Given the description of an element on the screen output the (x, y) to click on. 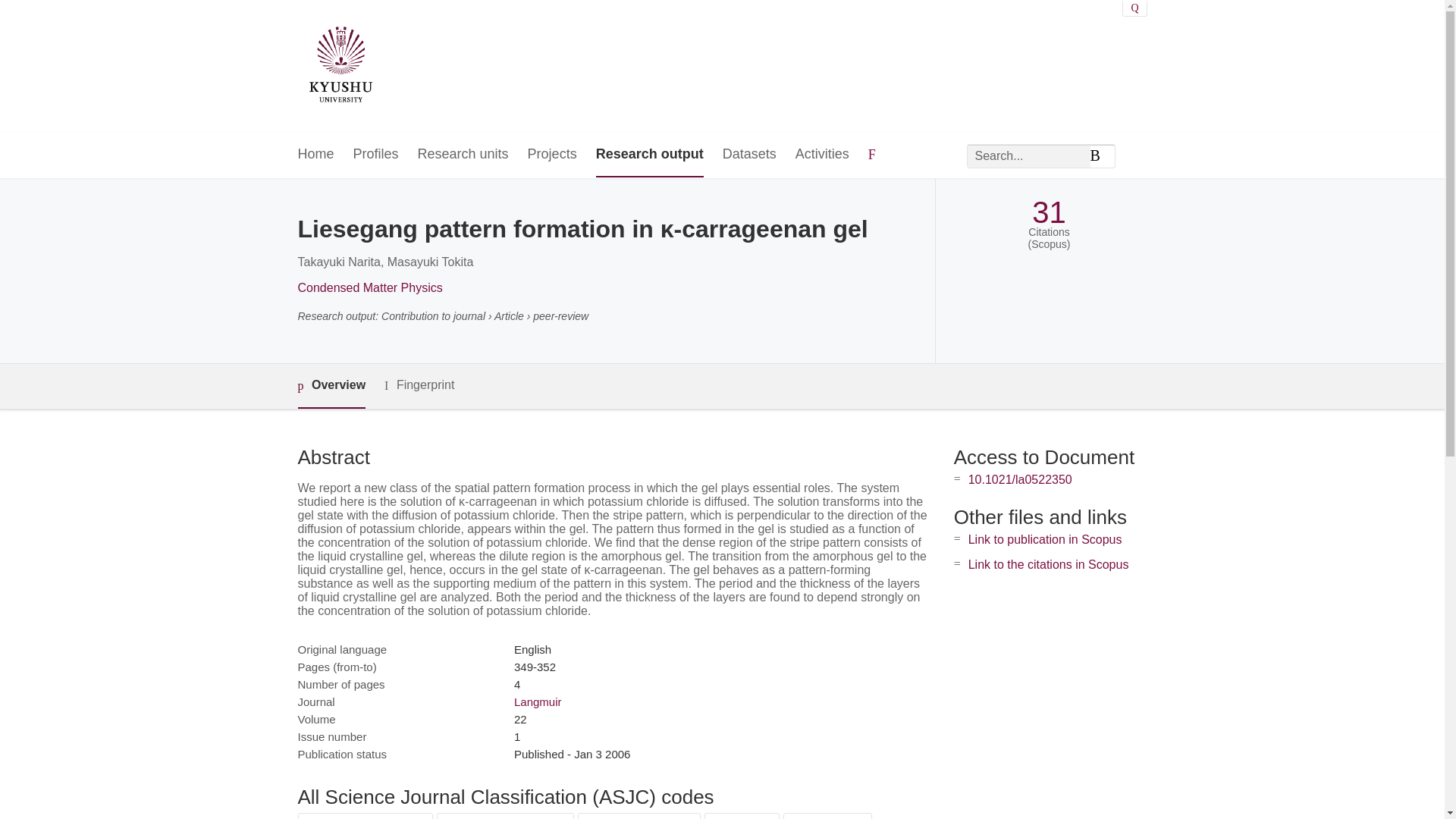
Activities (821, 154)
Profiles (375, 154)
Overview (331, 385)
31 (1048, 212)
Datasets (749, 154)
Fingerprint (419, 385)
Langmuir (537, 701)
Research units (462, 154)
Research output (649, 154)
